Given the description of an element on the screen output the (x, y) to click on. 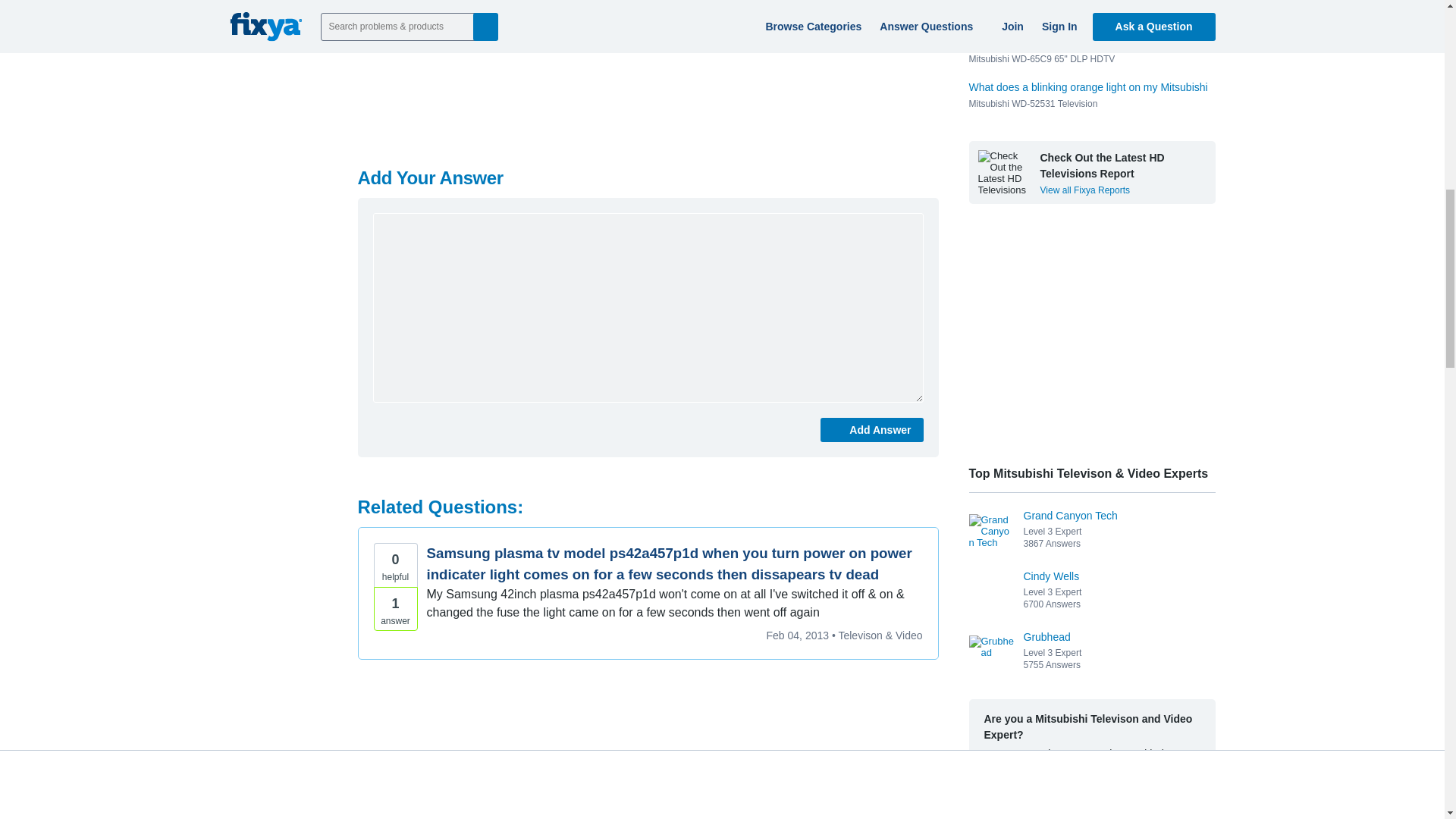
Add Answer (872, 429)
